Given the description of an element on the screen output the (x, y) to click on. 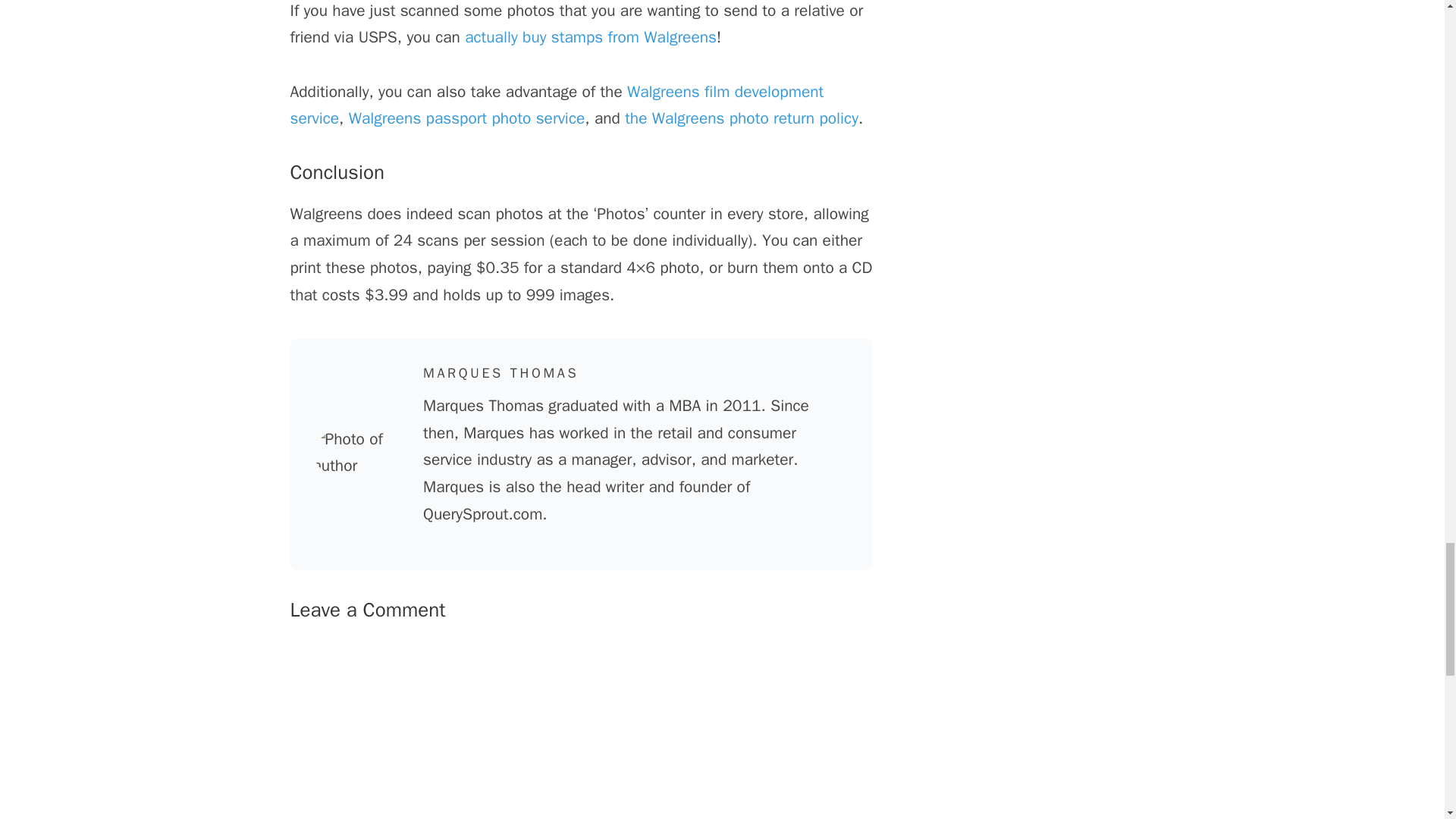
the Walgreens photo return policy (741, 117)
Walgreens film development service (556, 104)
actually buy stamps from Walgreens (590, 36)
Walgreens passport photo service (467, 117)
